Given the description of an element on the screen output the (x, y) to click on. 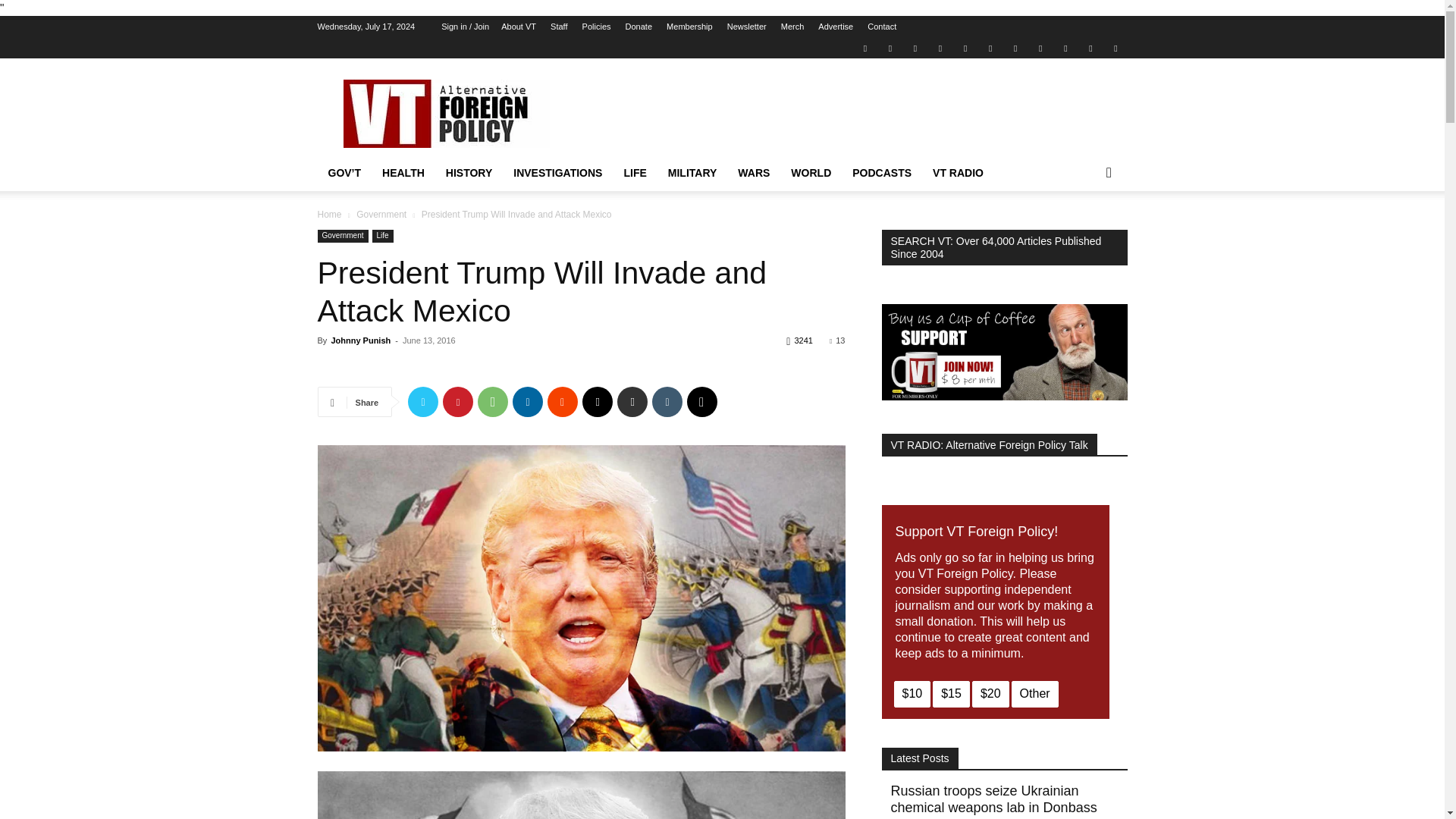
Rumble (964, 47)
Donate (639, 26)
Advertise (835, 26)
Membership (689, 26)
Newsletter (746, 26)
Contact (881, 26)
Facebook (890, 47)
Reddit (940, 47)
Blogger (864, 47)
Merch (792, 26)
Staff (558, 26)
Mail (915, 47)
About VT (517, 26)
Policies (596, 26)
